Given the description of an element on the screen output the (x, y) to click on. 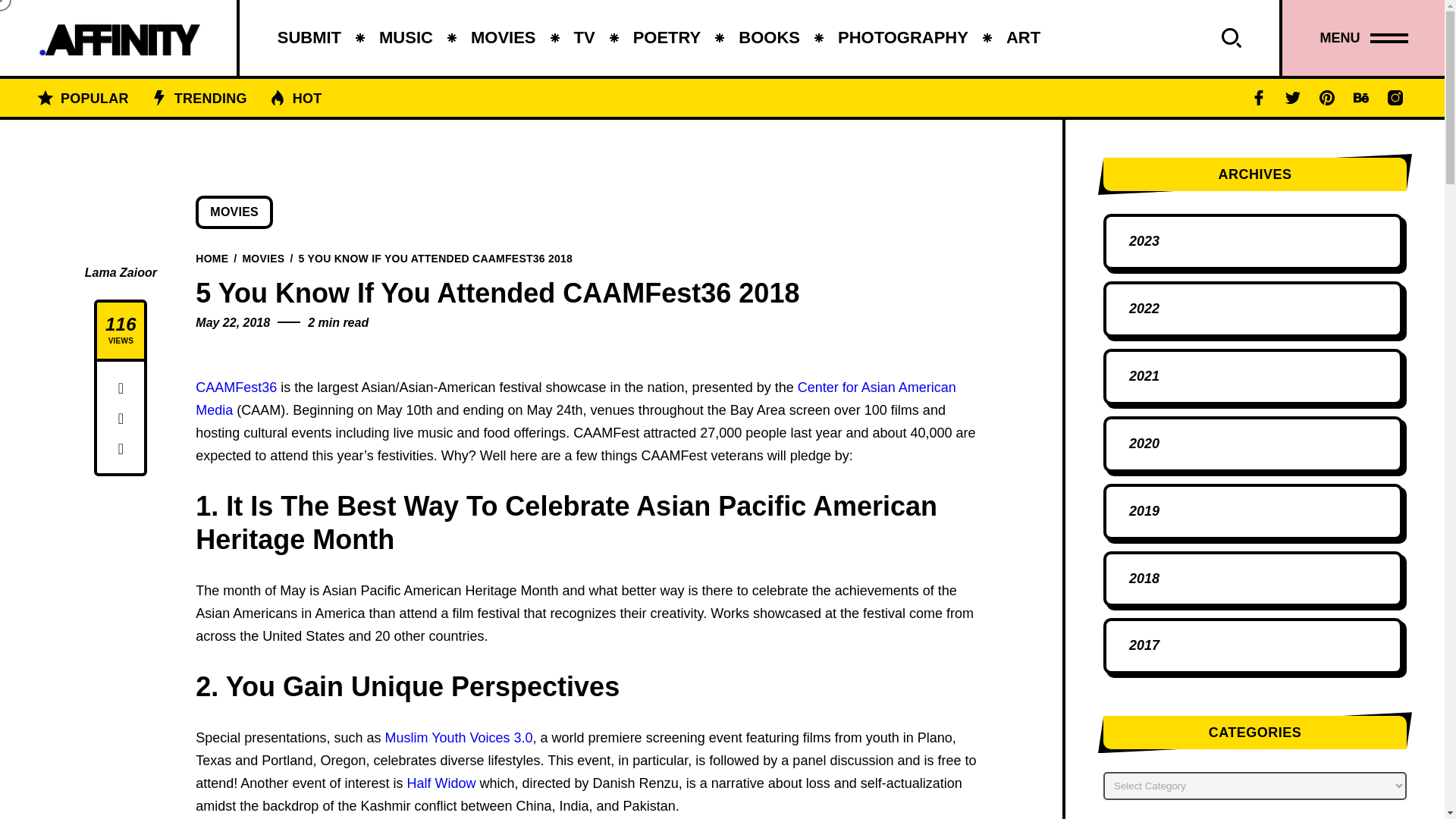
116 (120, 324)
PHOTOGRAPHY (902, 38)
Home (211, 257)
BOOKS (768, 38)
MUSIC (405, 38)
POETRY (667, 38)
ART (1023, 38)
POPULAR (94, 97)
5 You Know If You Attended CAAMFest36 2018 (435, 257)
SUBMIT (309, 38)
MOVIES (502, 38)
